Given the description of an element on the screen output the (x, y) to click on. 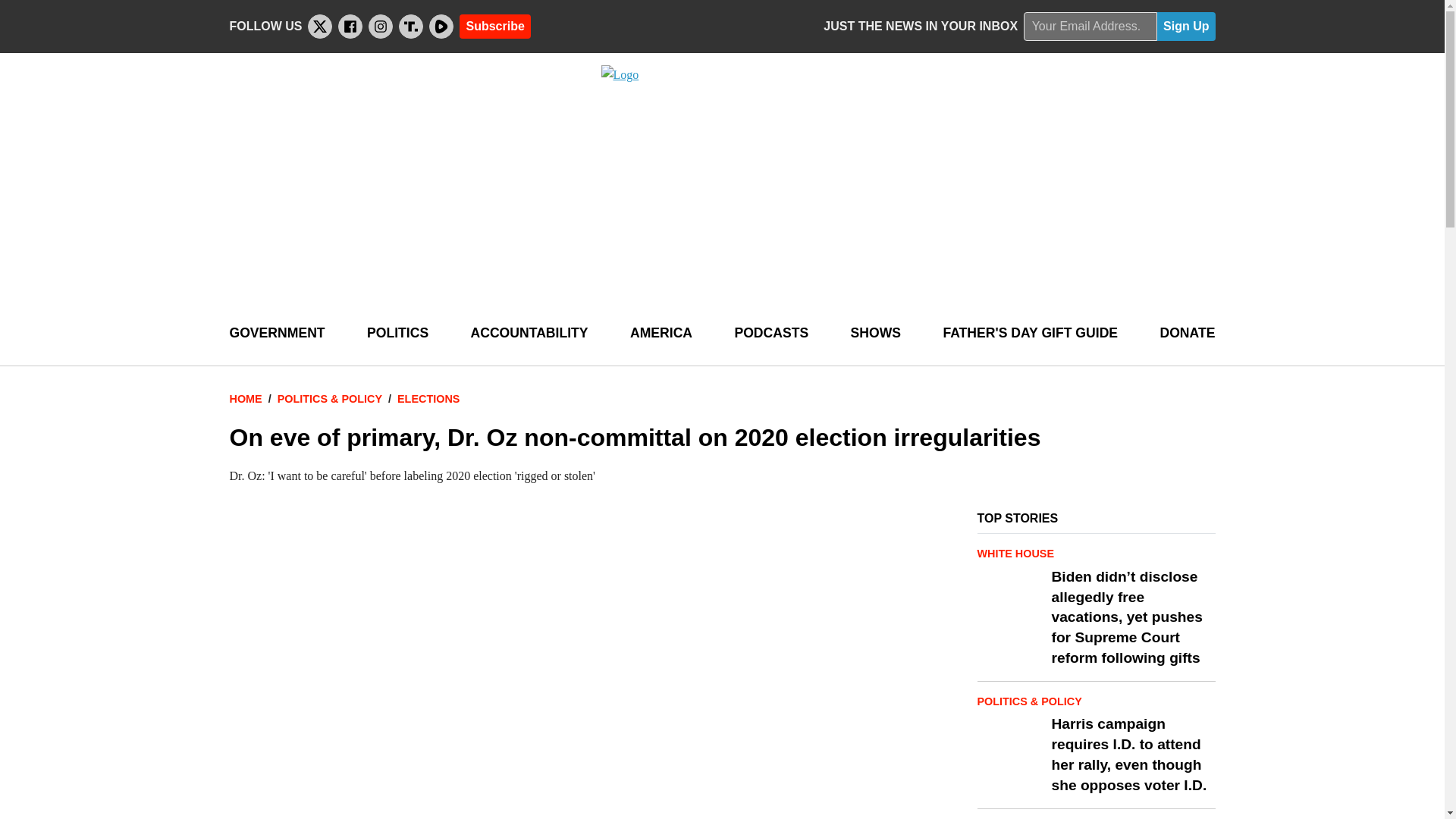
SHOWS (875, 333)
POLITICS (397, 333)
Subscribe (494, 26)
DONATE (1186, 333)
FATHER'S DAY GIFT GUIDE (1030, 333)
Sign Up (1185, 26)
GOVERNMENT (276, 333)
Sign Up (1185, 26)
PODCASTS (770, 333)
